Given the description of an element on the screen output the (x, y) to click on. 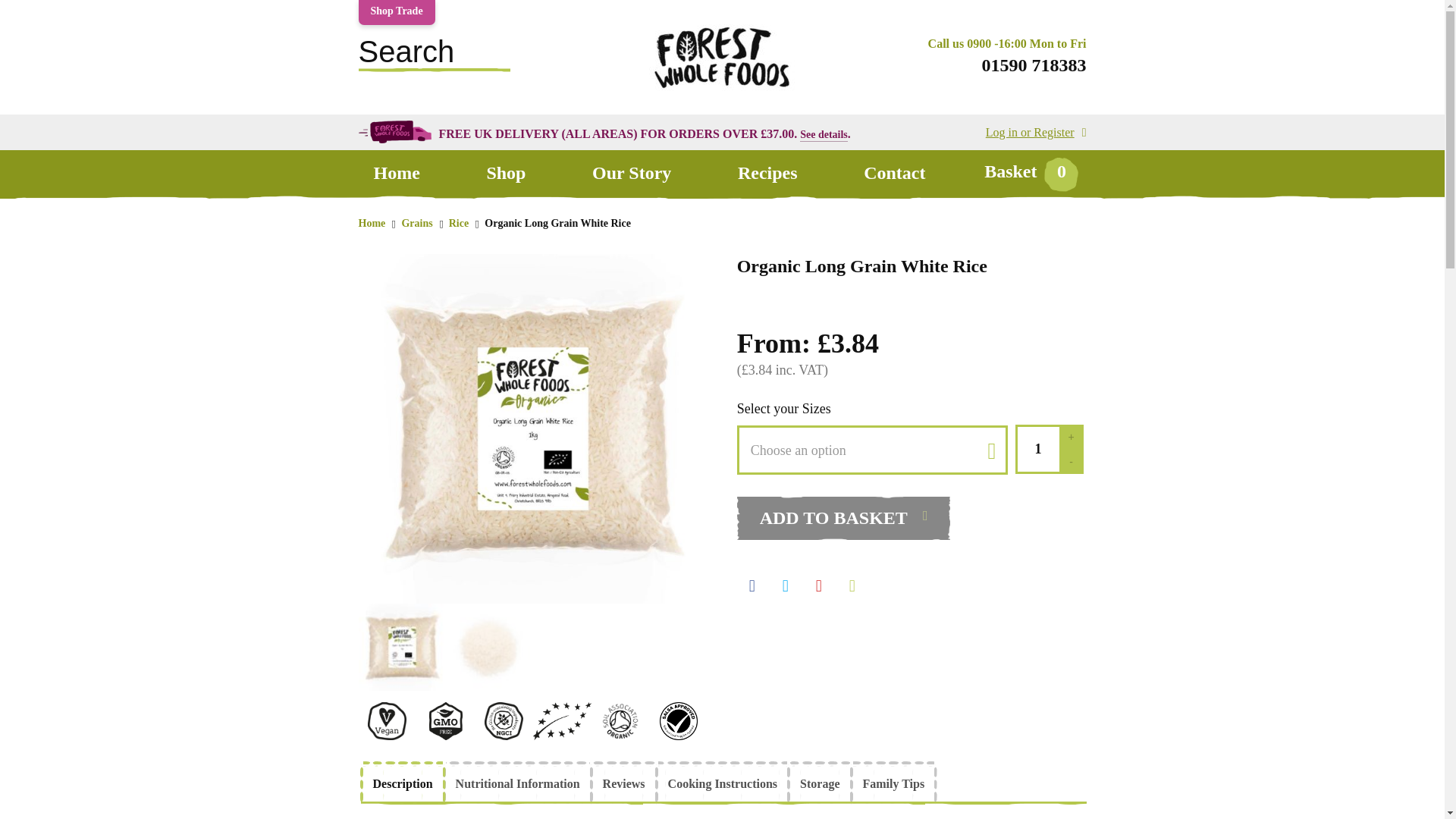
Share by email (851, 582)
Home (395, 172)
Forest Whole Foods (721, 93)
Tweet (786, 582)
Log in or Register (1035, 131)
Qty (1036, 449)
- (1070, 461)
Pin it (818, 582)
Shop (505, 172)
Share on Facebook (752, 582)
Organic Long Grain White Rice 1kg (532, 428)
Shop Trade (395, 12)
See details (823, 134)
Existing customer? Log in or Register (1035, 131)
1 (1036, 449)
